Given the description of an element on the screen output the (x, y) to click on. 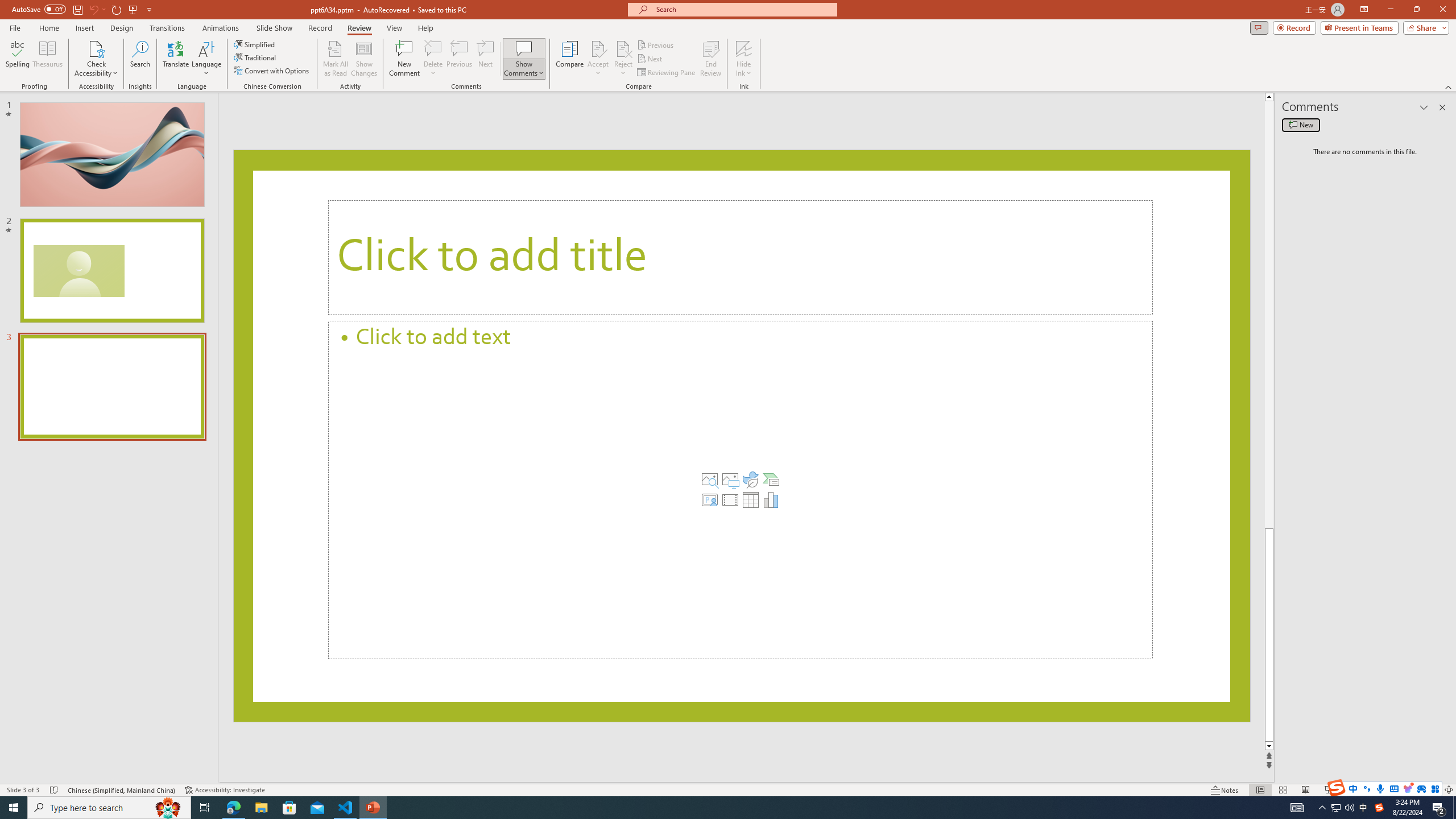
Show Comments (524, 48)
Delete (432, 58)
Thesaurus... (47, 58)
Reviewing Pane (666, 72)
